Given the description of an element on the screen output the (x, y) to click on. 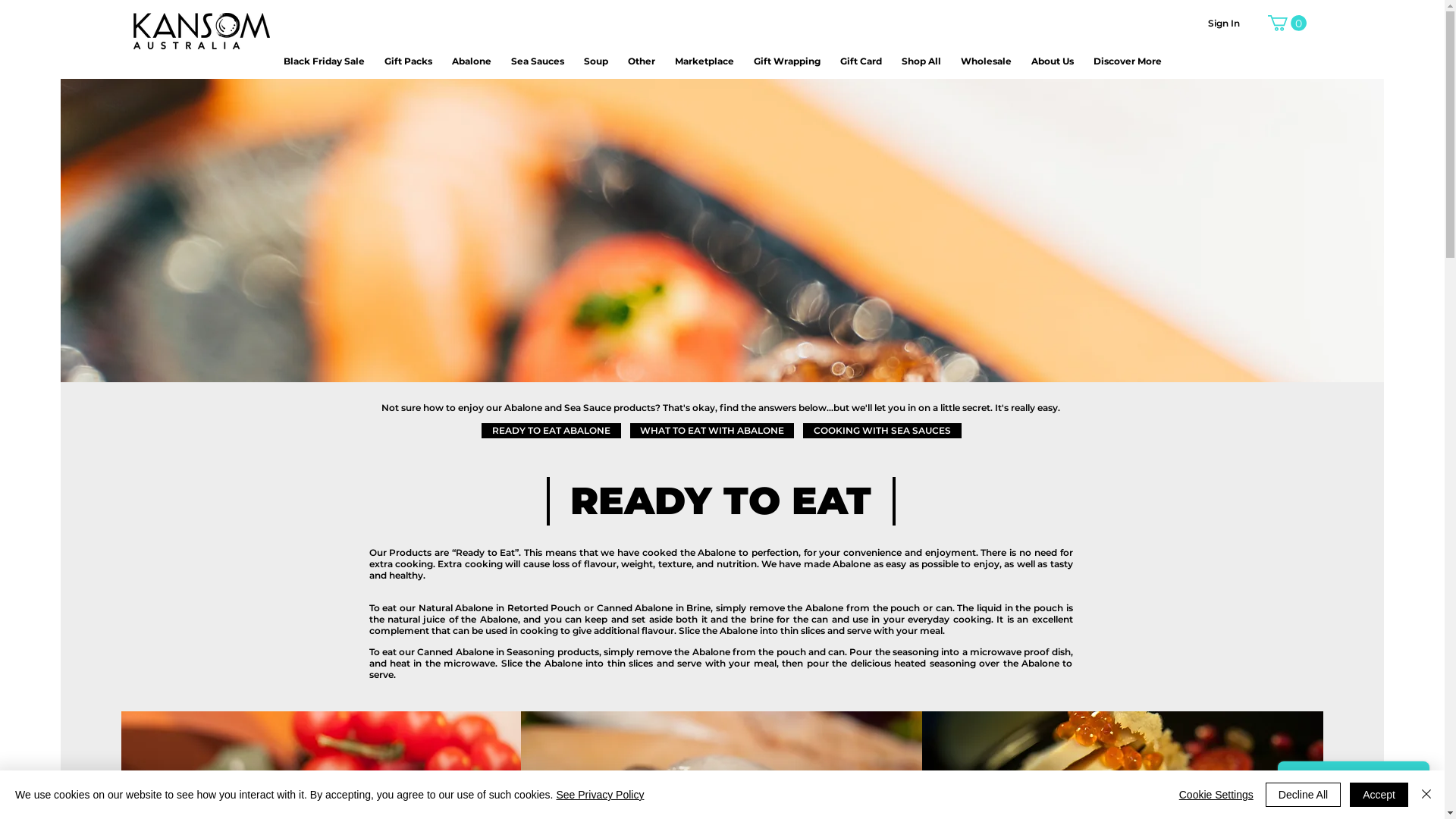
Marketplace Element type: text (704, 60)
See Privacy Policy Element type: text (599, 794)
READY TO EAT ABALONE Element type: text (550, 430)
Decline All Element type: text (1302, 794)
Accept Element type: text (1378, 794)
0 Element type: text (1286, 23)
Sign In Element type: text (1223, 23)
Gift Wrapping Element type: text (786, 60)
COOKING WITH SEA SAUCES Element type: text (881, 430)
Gift Packs Element type: text (407, 60)
Soup Element type: text (595, 60)
About Us Element type: text (1052, 60)
Gift Card Element type: text (860, 60)
Black Friday Sale Element type: text (323, 60)
Shop All Element type: text (920, 60)
Wholesale Element type: text (985, 60)
Abalone Element type: text (471, 60)
Sea Sauces Element type: text (537, 60)
WHAT TO EAT WITH ABALONE Element type: text (711, 430)
Discover More Element type: text (1127, 60)
Other Element type: text (641, 60)
